Given the description of an element on the screen output the (x, y) to click on. 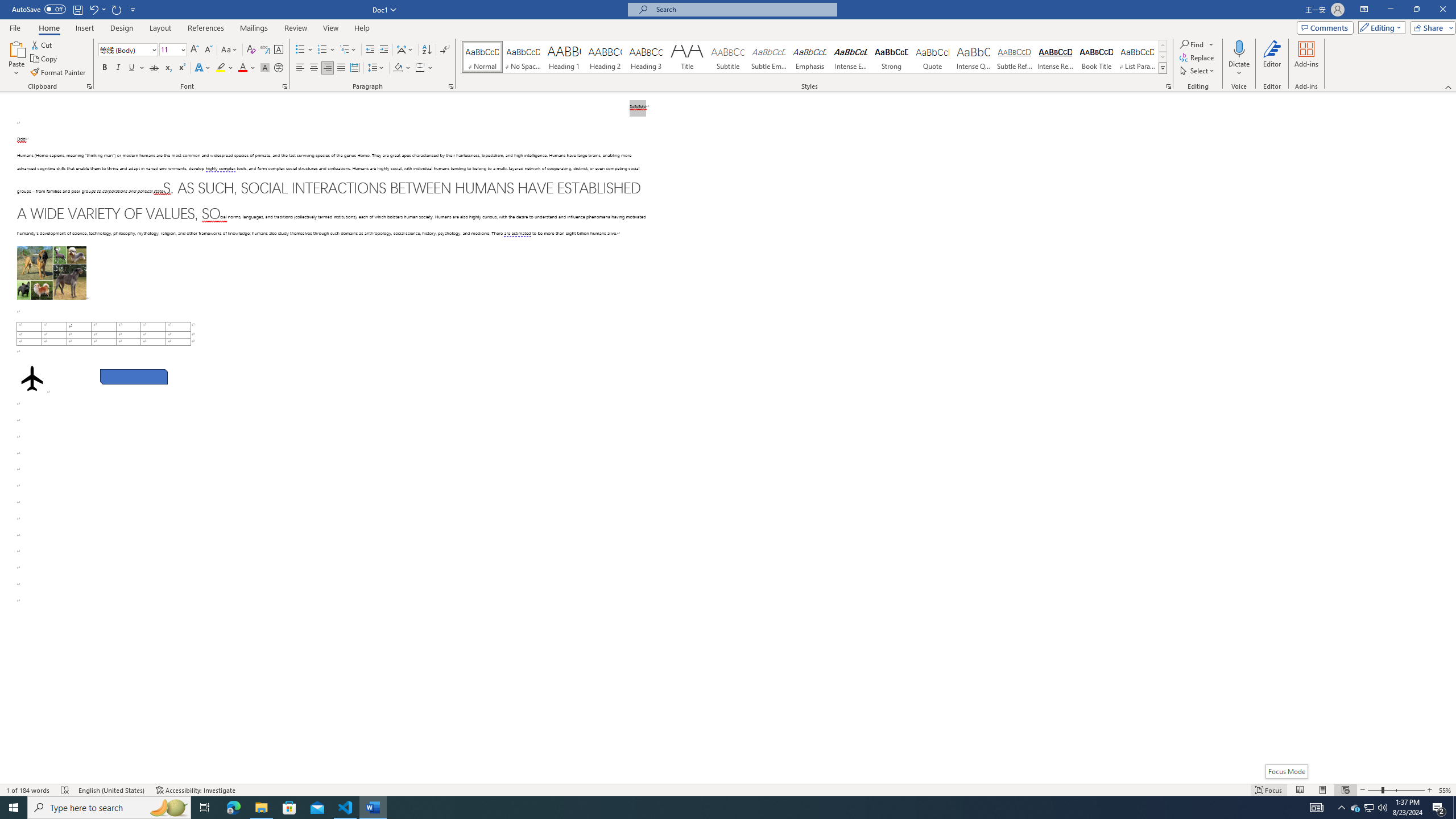
Word Count 1 of 184 words (28, 790)
Heading 2 (605, 56)
